Given the description of an element on the screen output the (x, y) to click on. 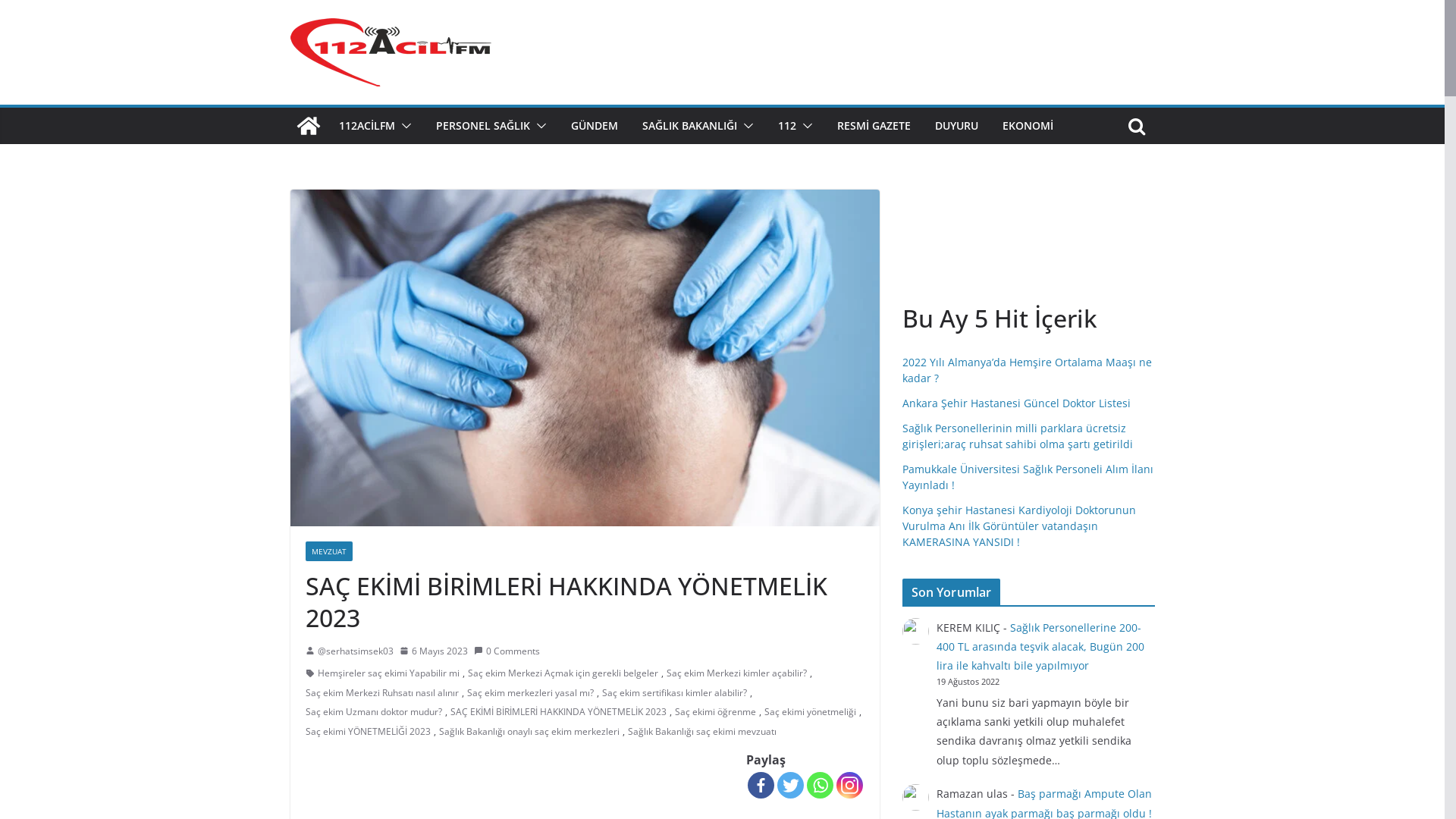
Whatsapp Element type: hover (819, 784)
EKONOMI Element type: text (1027, 125)
Instagram Element type: hover (848, 784)
112 Element type: text (787, 125)
DUYURU Element type: text (955, 125)
RESMI GAZETE Element type: text (873, 125)
112ACILFM Element type: text (366, 125)
Facebook Element type: hover (760, 784)
@serhatsimsek03 Element type: text (354, 651)
Twitter Element type: hover (789, 784)
MEVZUAT Element type: text (327, 551)
0 Comments Element type: text (506, 651)
